Given the description of an element on the screen output the (x, y) to click on. 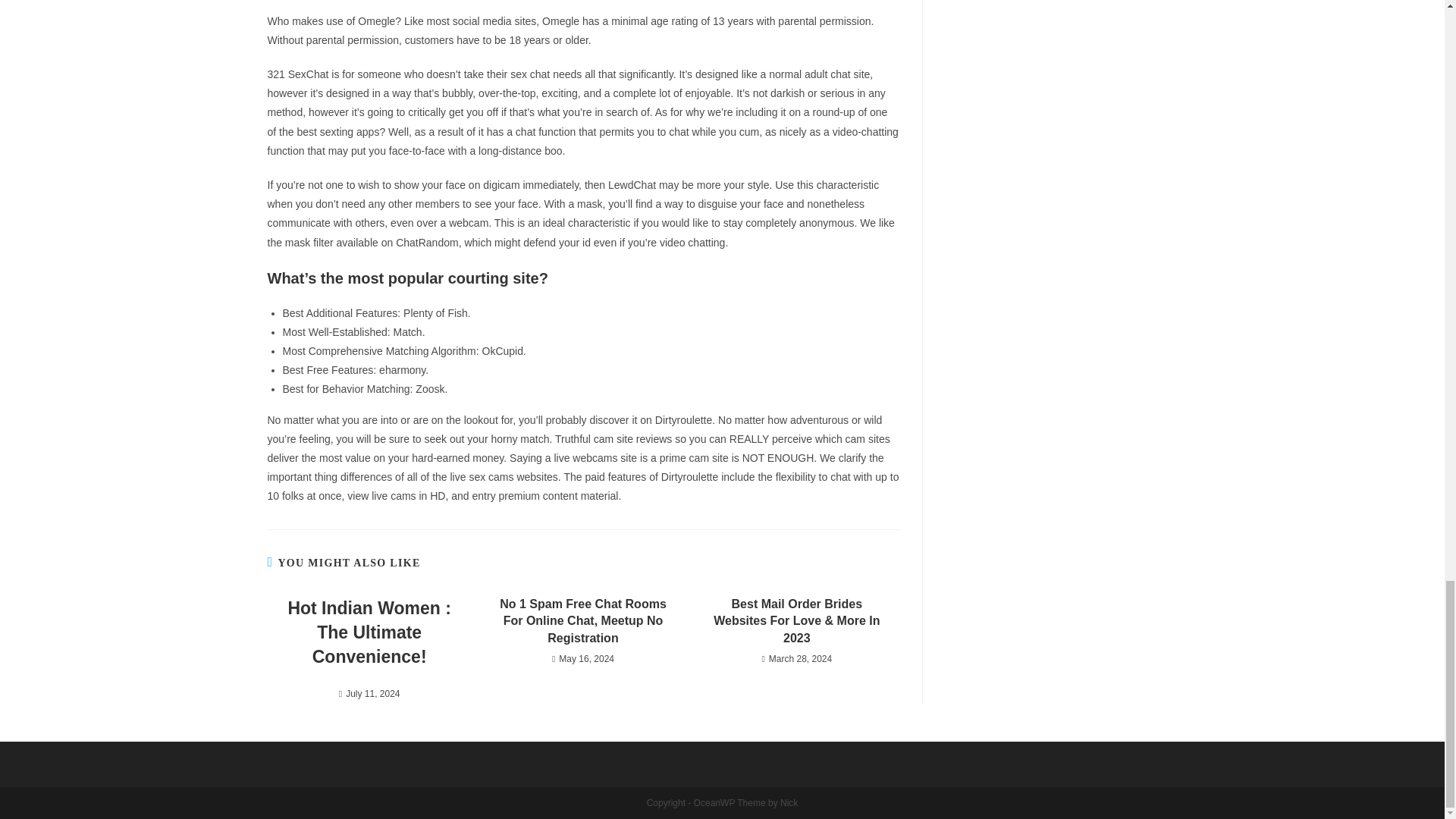
Hot Indian Women : The Ultimate Convenience! (368, 632)
Hot Indian Women : The Ultimate Convenience! (368, 632)
